Given the description of an element on the screen output the (x, y) to click on. 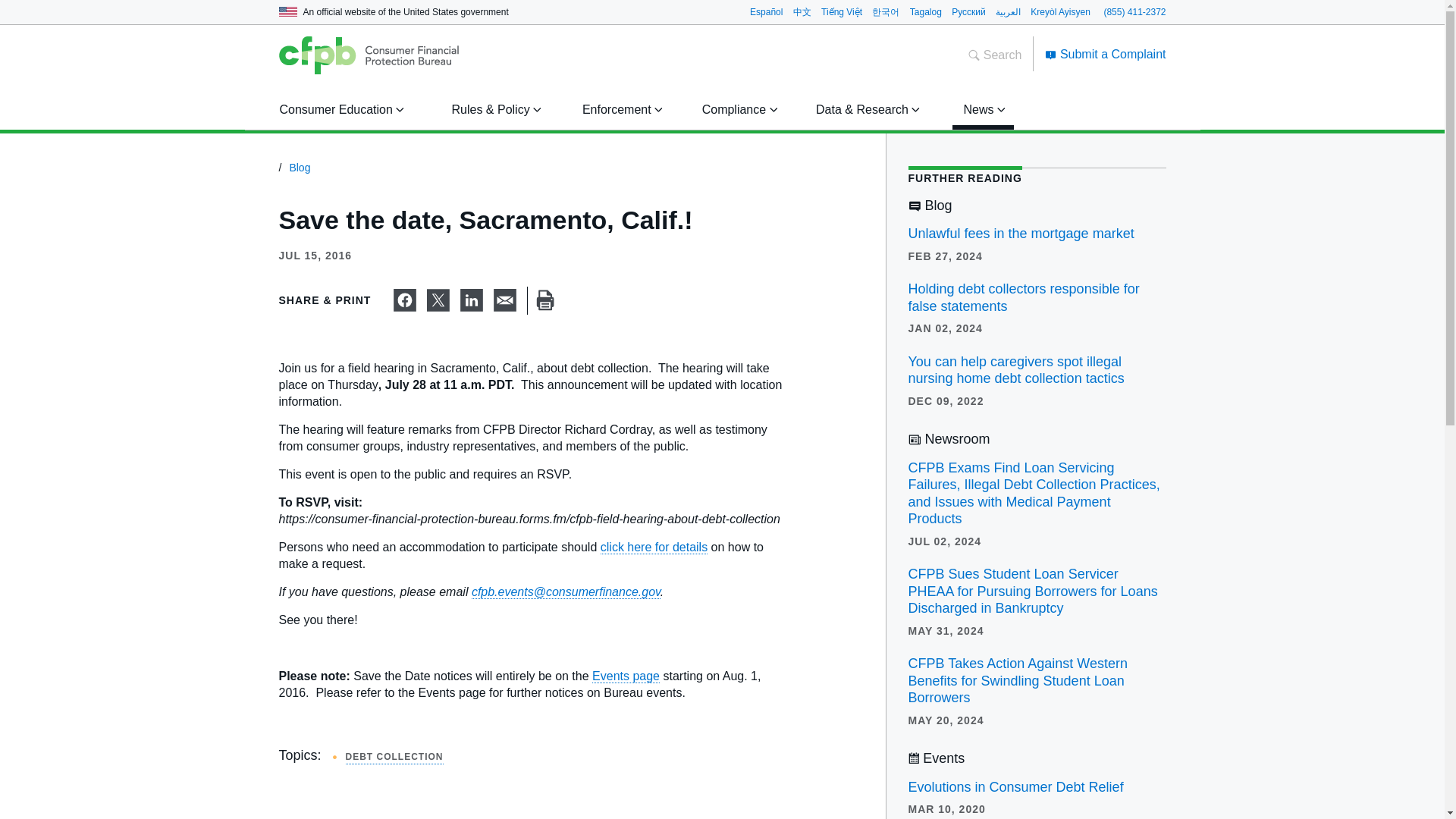
Tagalog (926, 10)
Search (995, 54)
Submit a Complaint (1105, 52)
Consumer Education (339, 109)
